Given the description of an element on the screen output the (x, y) to click on. 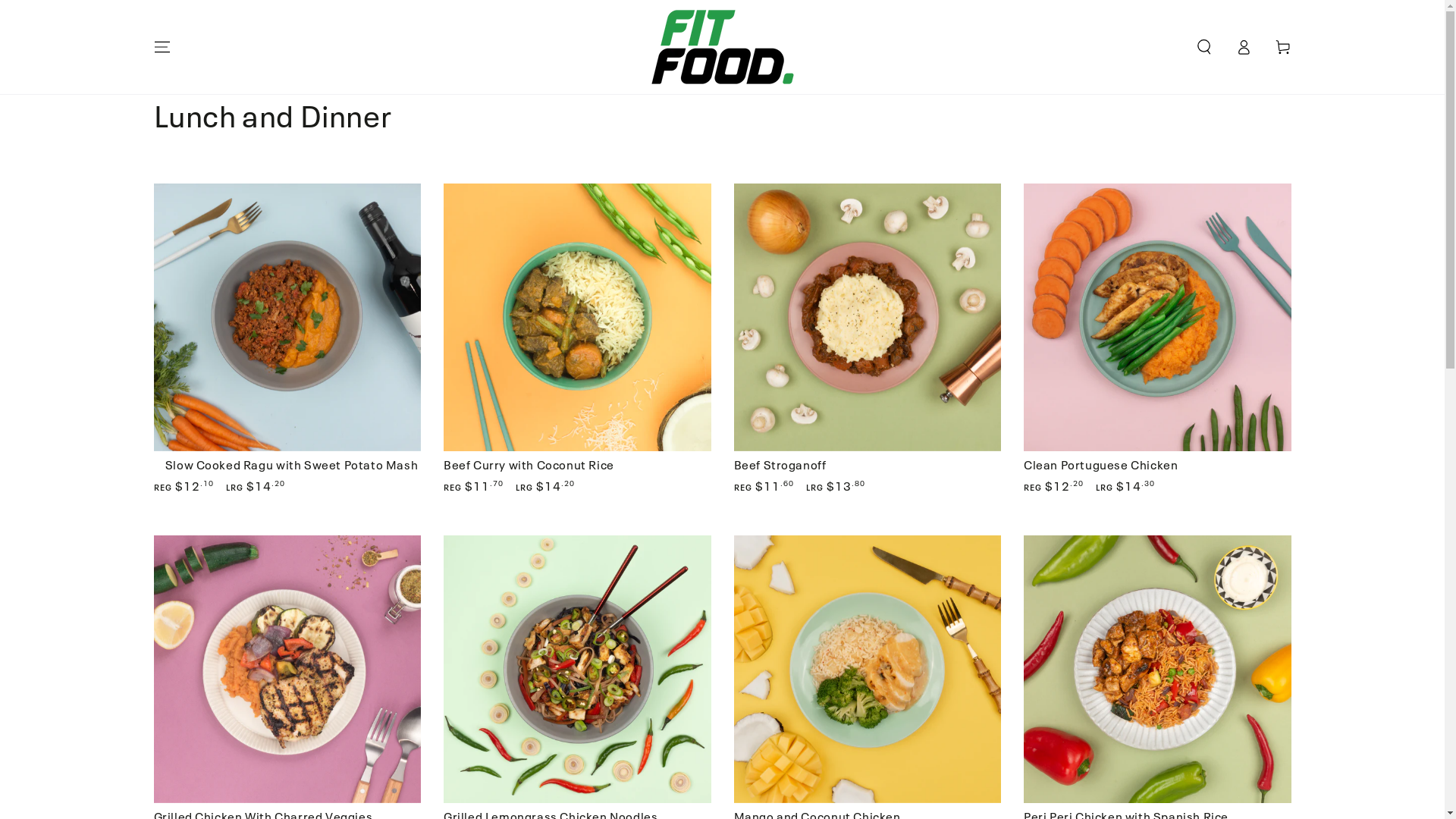
Beef Stroganoff Element type: text (780, 464)
Log in Element type: text (1243, 46)
Clean Portuguese Chicken Element type: text (1157, 338)
Beef Curry with Coconut Rice Element type: text (528, 464)
Beef Curry with Coconut Rice Element type: text (577, 338)
Clean Portuguese Chicken Element type: text (1100, 464)
Beef Stroganoff Element type: text (867, 338)
